Given the description of an element on the screen output the (x, y) to click on. 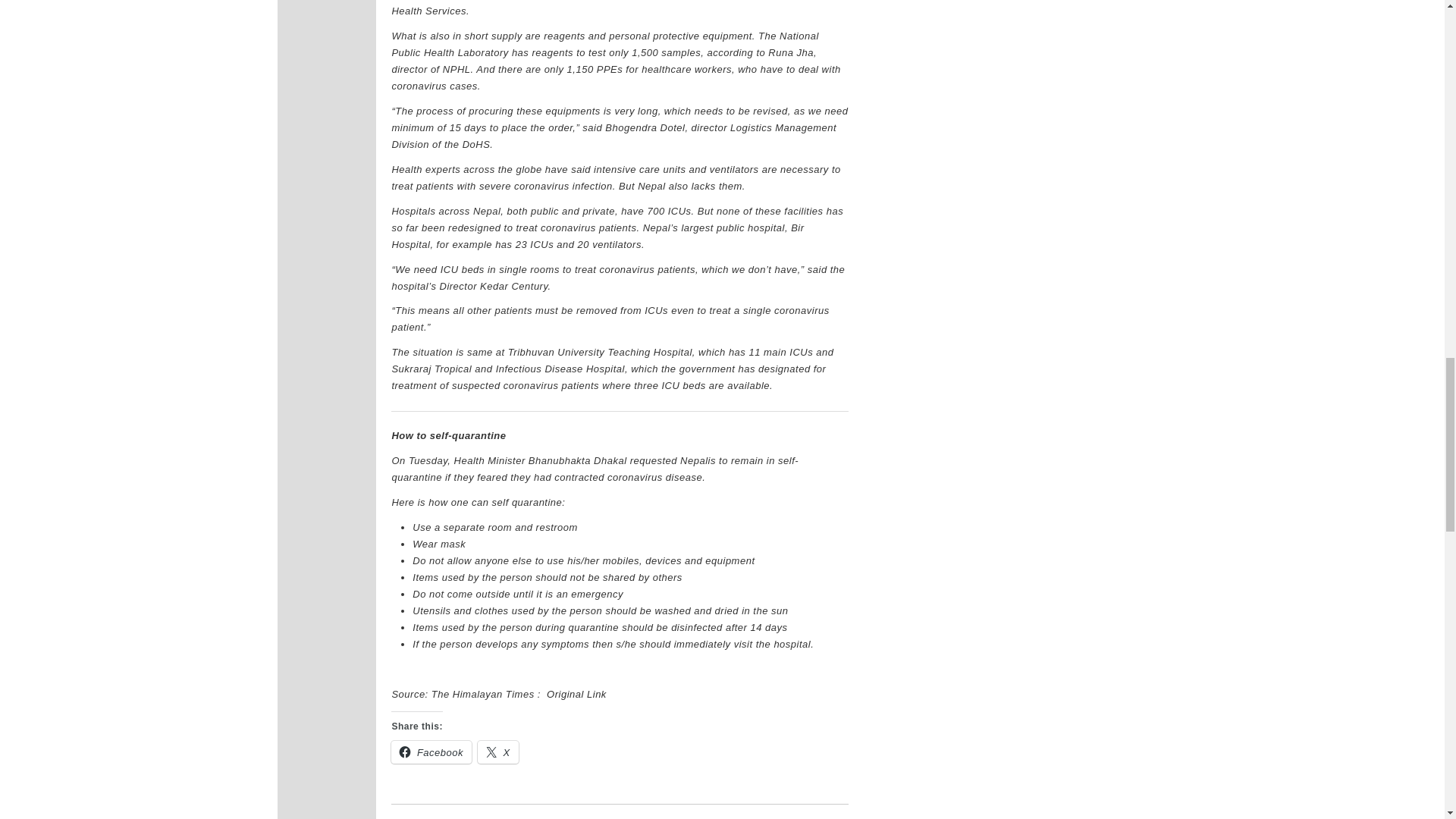
Corona Virus Nepal (575, 816)
Corona Virus 2020 (454, 816)
Original Link  (578, 694)
X (497, 752)
Click to share on Facebook (431, 752)
Facebook (431, 752)
Click to share on X (497, 752)
Corona Virus World (552, 816)
